Given the description of an element on the screen output the (x, y) to click on. 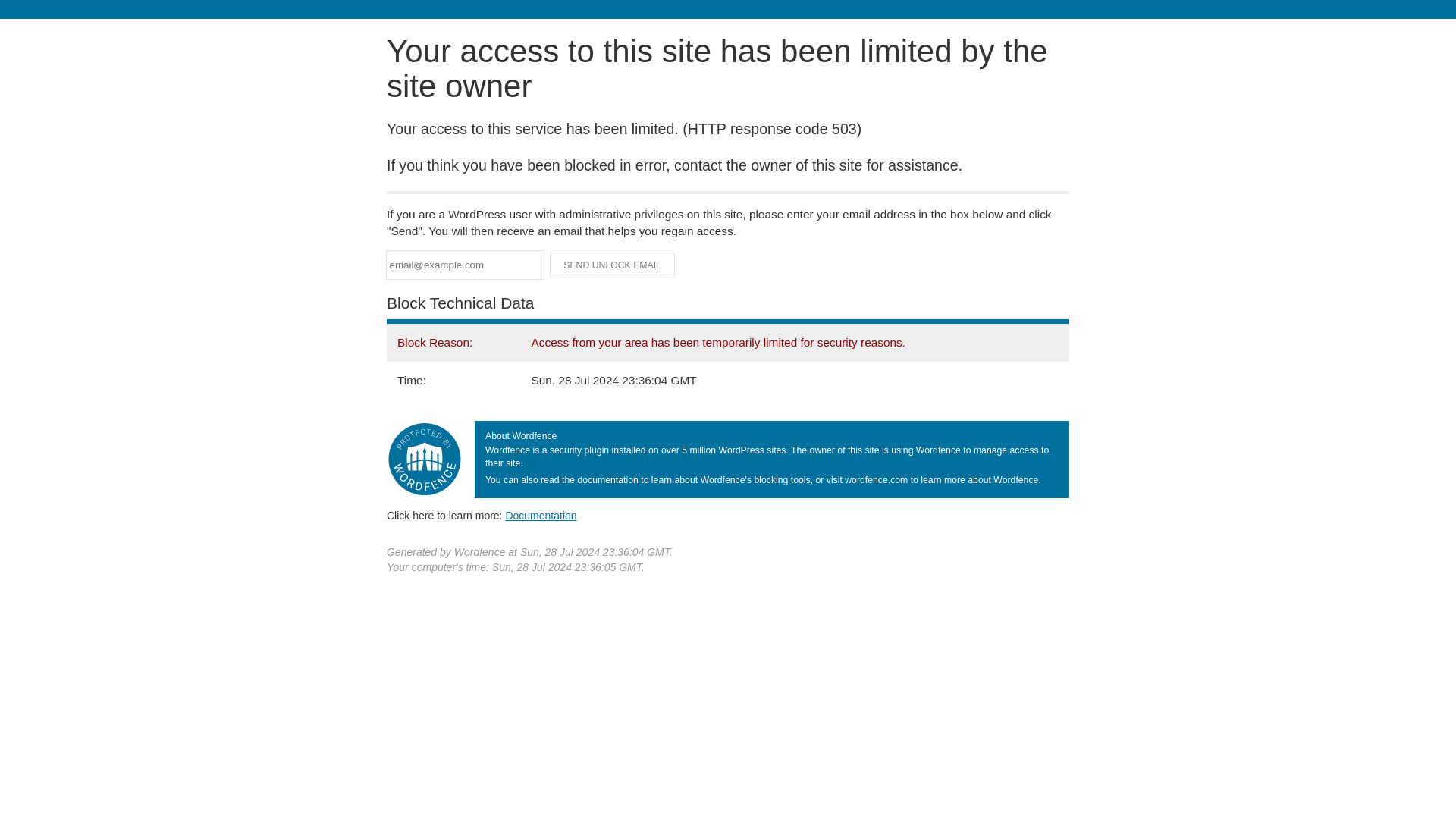
Documentation (540, 515)
Send Unlock Email (612, 265)
Send Unlock Email (612, 265)
